Given the description of an element on the screen output the (x, y) to click on. 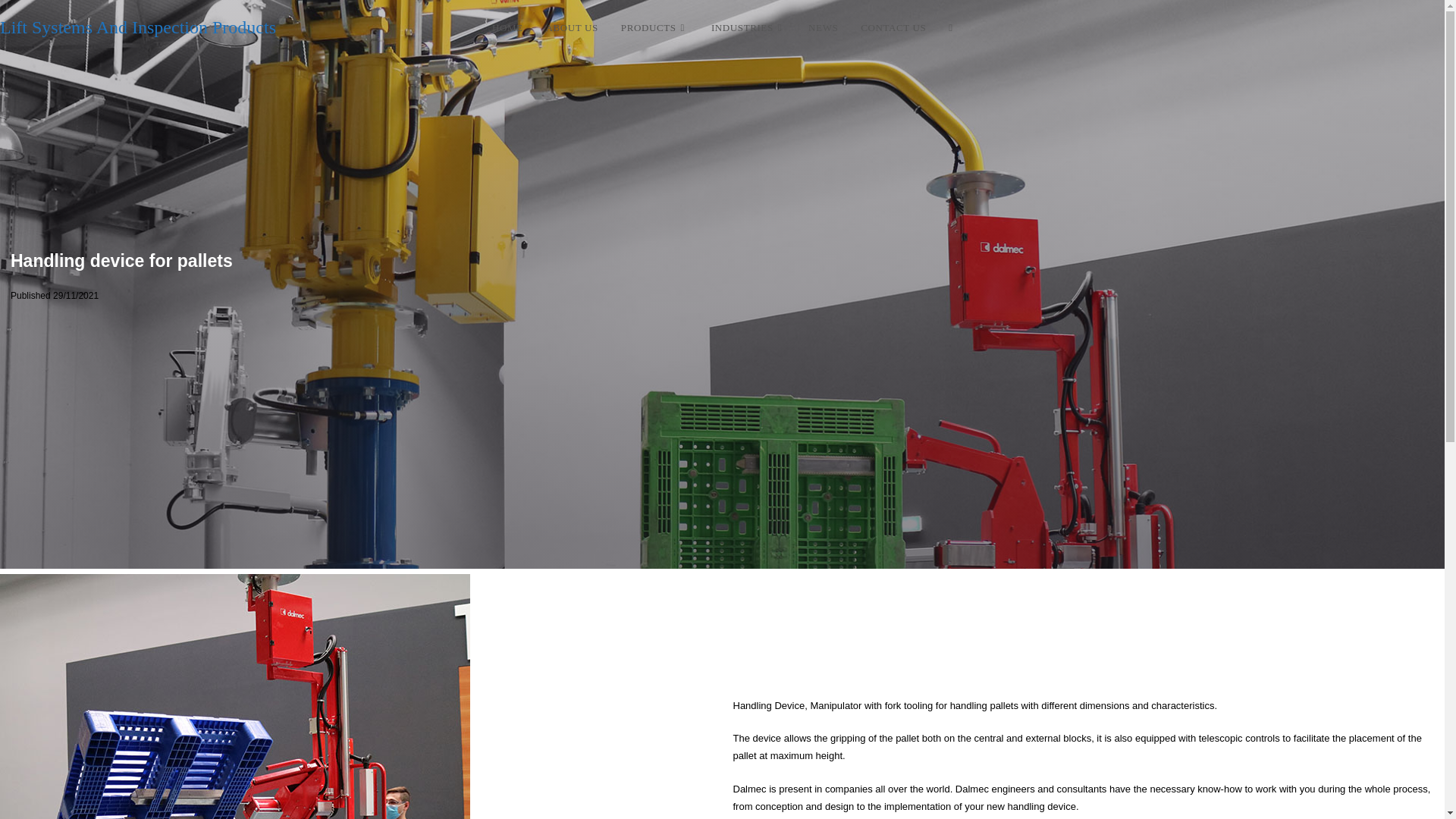
HOME (507, 28)
Lift Systems And Inspection Products (138, 26)
PRODUCTS (655, 28)
ABOUT US (572, 28)
